Given the description of an element on the screen output the (x, y) to click on. 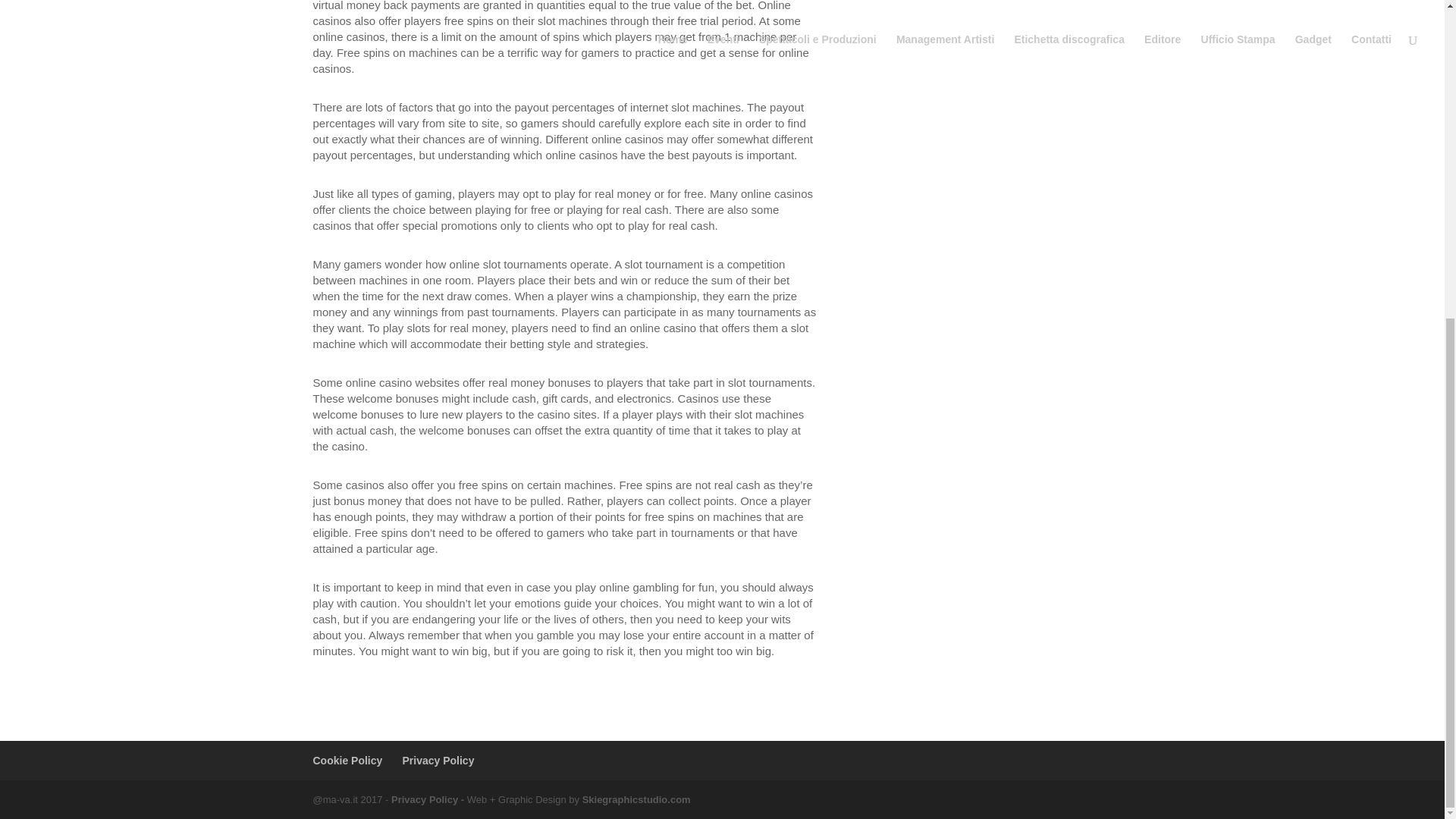
Cookie Policy (347, 760)
Skiegraphicstudio.com (636, 799)
Privacy Policy (437, 760)
Privacy Policy - (429, 799)
